Given the description of an element on the screen output the (x, y) to click on. 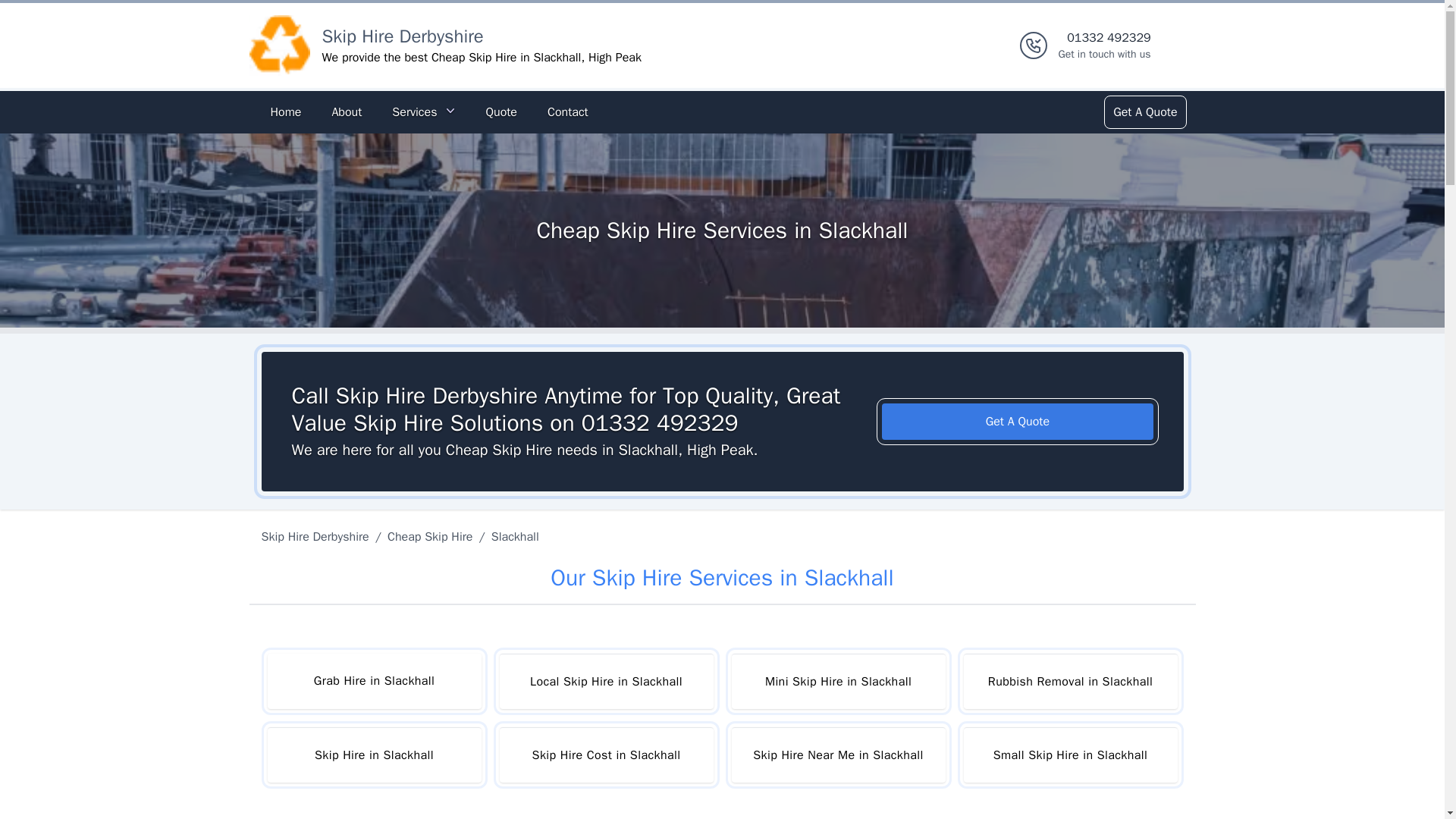
Services (423, 112)
Rubbish Removal in Slackhall (1069, 681)
Skip Hire Cost in Slackhall (606, 754)
Skip Hire Derbyshire (317, 536)
Skip Hire in Slackhall (373, 754)
Quote (500, 112)
Logo (278, 45)
Cheap Skip Hire (430, 536)
Skip Hire Derbyshire (1104, 45)
